Given the description of an element on the screen output the (x, y) to click on. 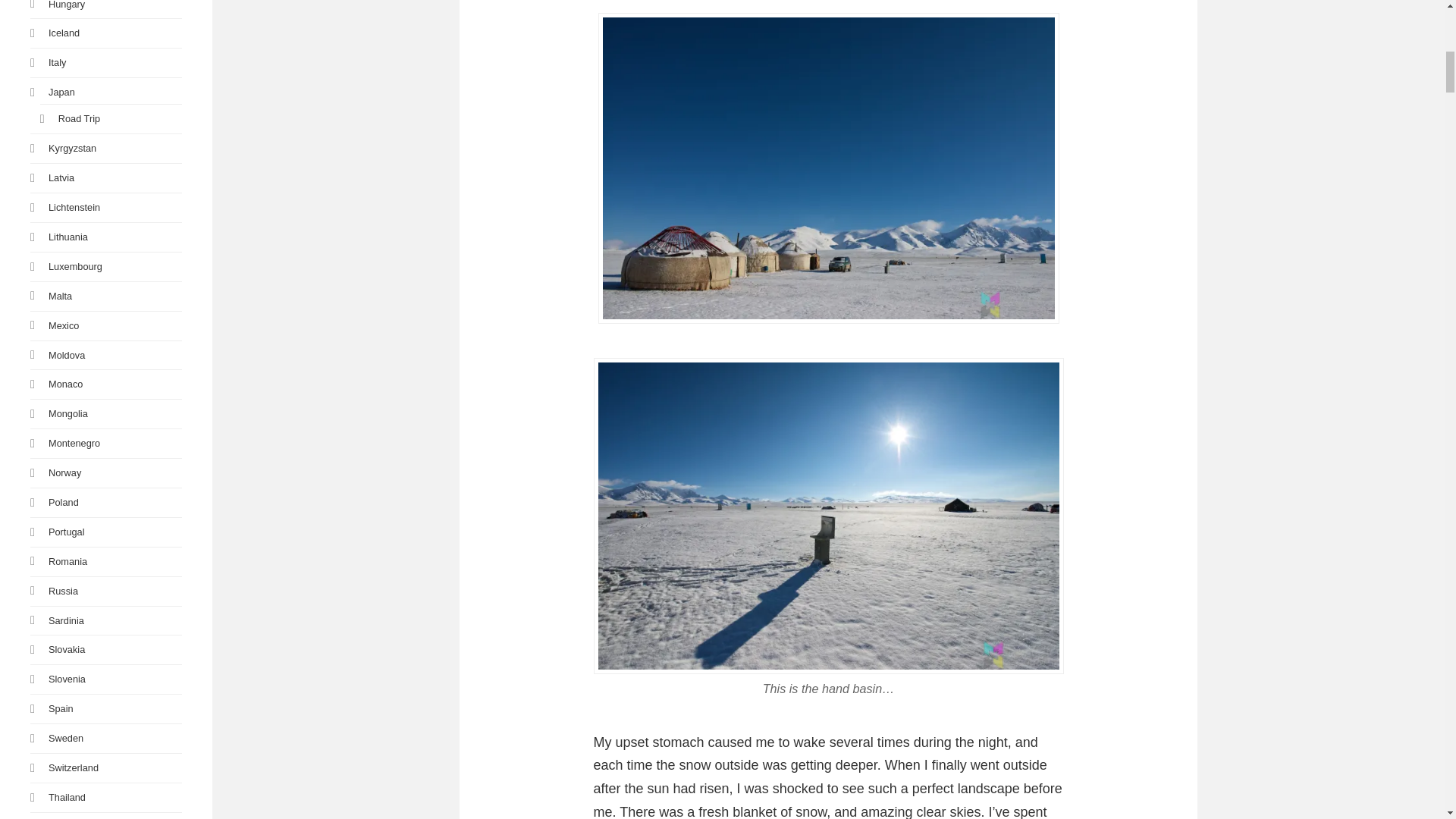
Japan (61, 91)
Malta (59, 296)
Luxembourg (74, 266)
Iceland (64, 32)
Hungary (66, 4)
Kyrgyzstan (72, 147)
Lithuania (67, 236)
Road Trip (79, 118)
Mexico (63, 325)
Moldova (66, 355)
Italy (56, 61)
Monaco (65, 383)
Latvia (61, 177)
Lichtenstein (74, 206)
